Given the description of an element on the screen output the (x, y) to click on. 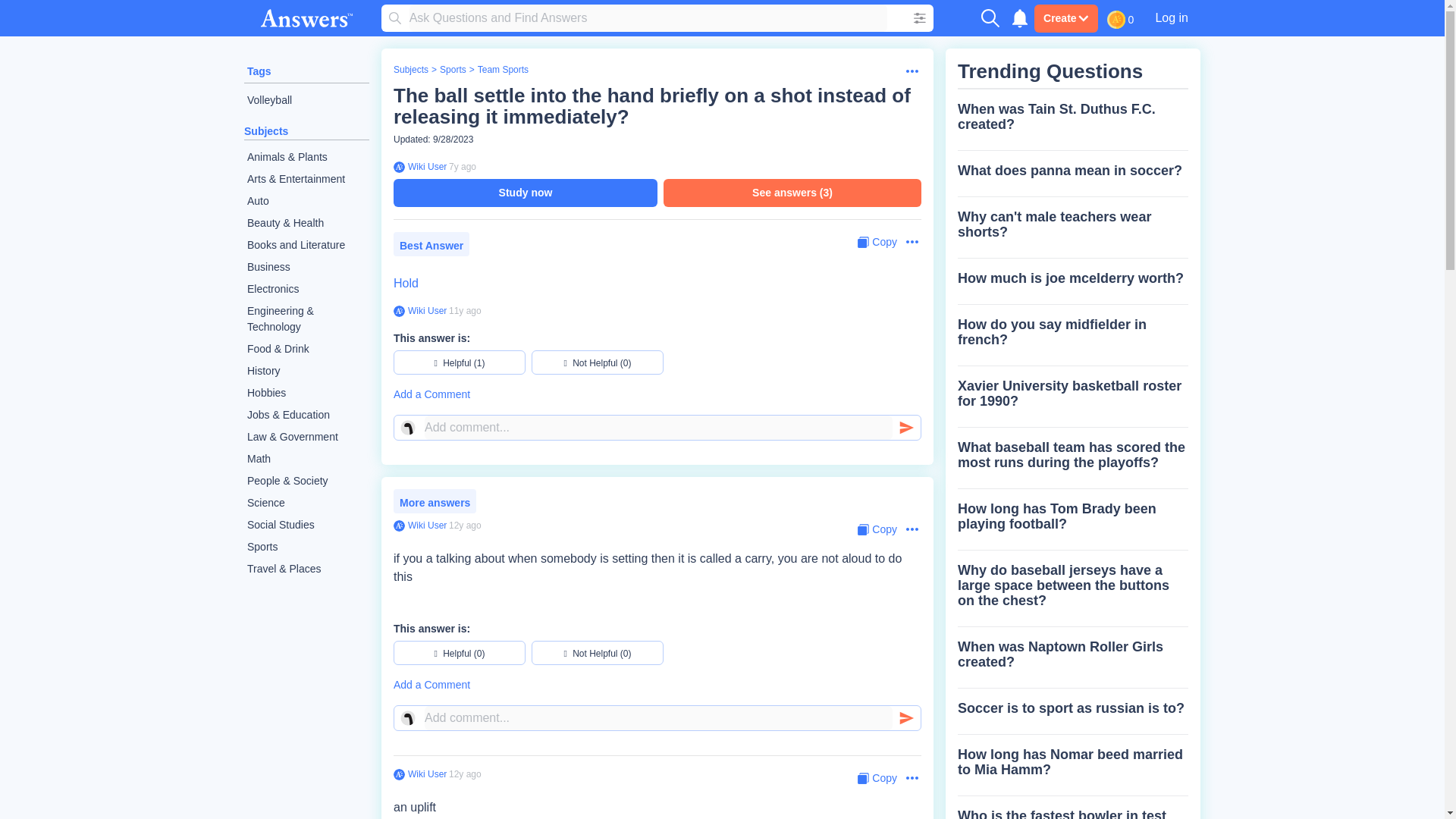
Team Sports (502, 69)
Add a Comment (657, 394)
Social Studies (306, 525)
History (306, 371)
Tags (258, 70)
2012-12-19 00:53:34 (464, 310)
Log in (1170, 17)
Business (306, 267)
Study now (525, 193)
Electronics (306, 289)
2012-01-16 14:20:18 (464, 525)
Auto (306, 201)
Books and Literature (306, 245)
2017-02-21 22:36:57 (462, 166)
Math (306, 458)
